Given the description of an element on the screen output the (x, y) to click on. 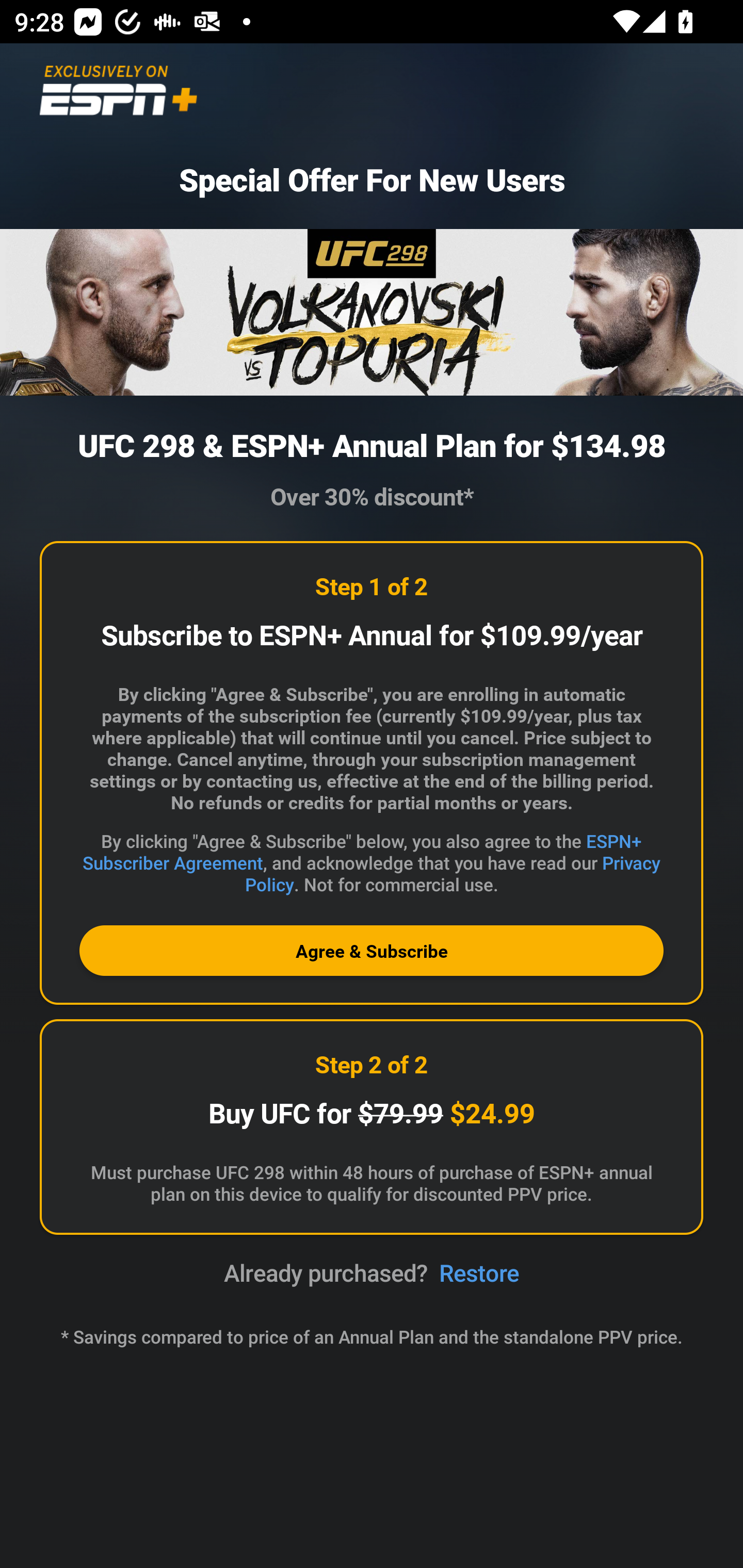
Agree & Subscribe (371, 950)
